Given the description of an element on the screen output the (x, y) to click on. 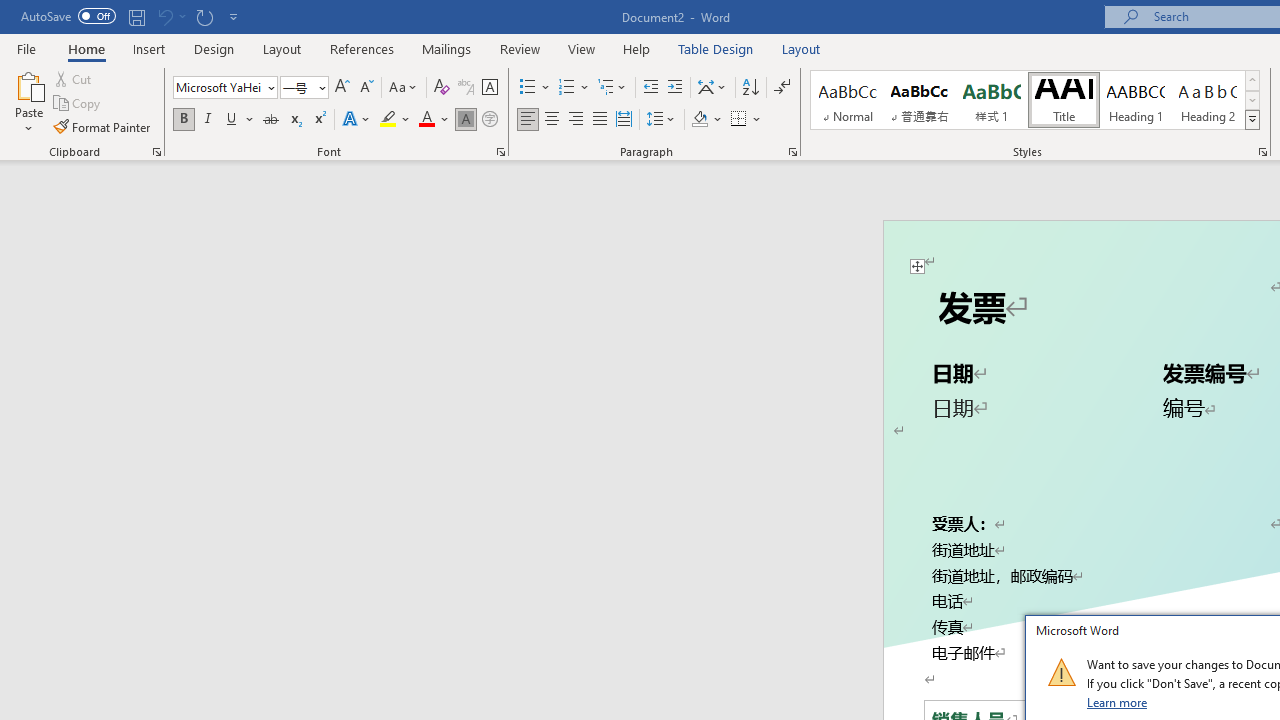
Can't Undo (170, 15)
Decrease Indent (650, 87)
Line and Paragraph Spacing (661, 119)
Asian Layout (712, 87)
Center (552, 119)
Borders (739, 119)
Justify (599, 119)
Numbering (566, 87)
Shrink Font (365, 87)
Font Color RGB(255, 0, 0) (426, 119)
Bullets (527, 87)
Bold (183, 119)
Cut (73, 78)
Distributed (623, 119)
